Given the description of an element on the screen output the (x, y) to click on. 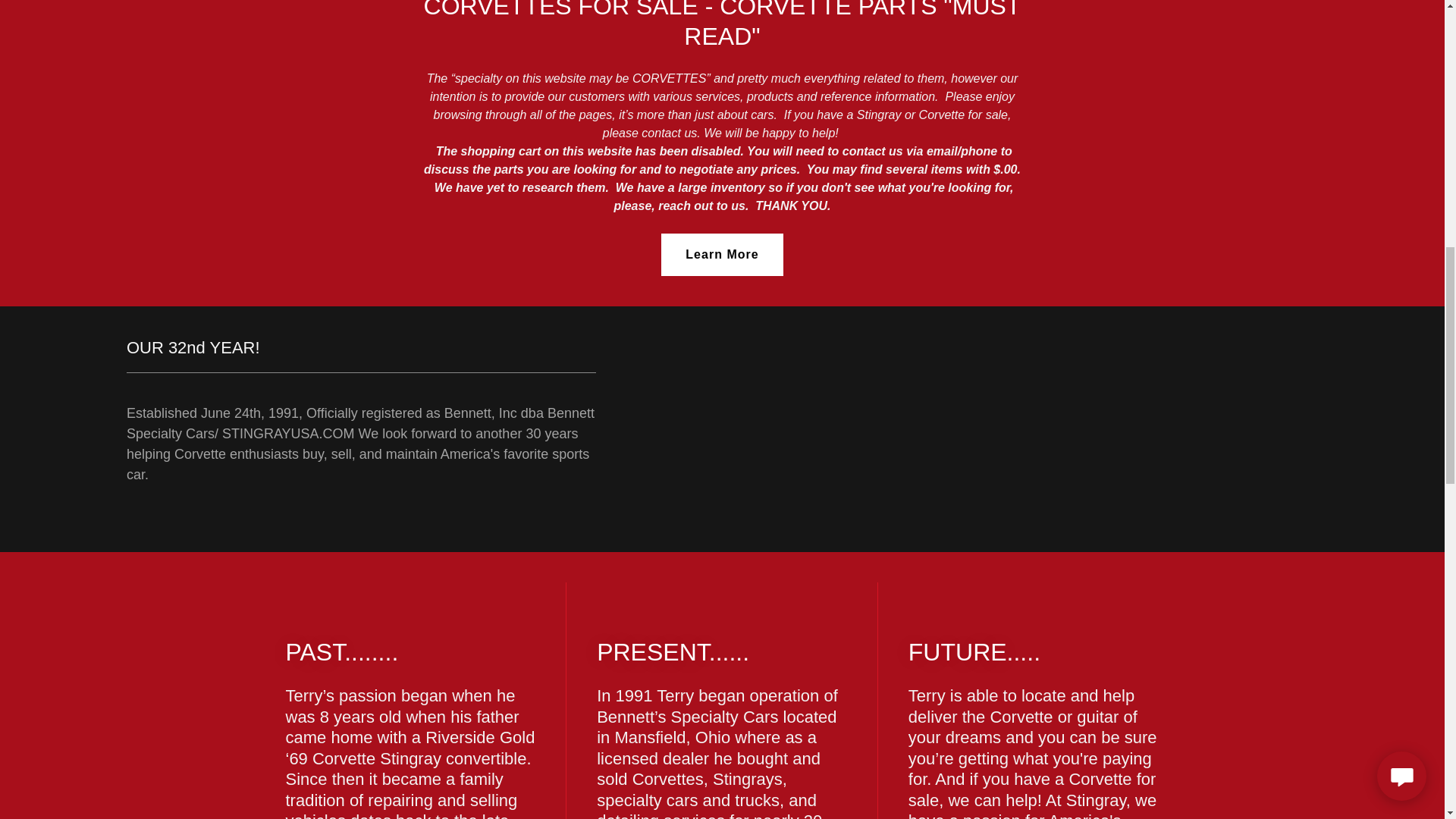
Learn More (722, 254)
